Given the description of an element on the screen output the (x, y) to click on. 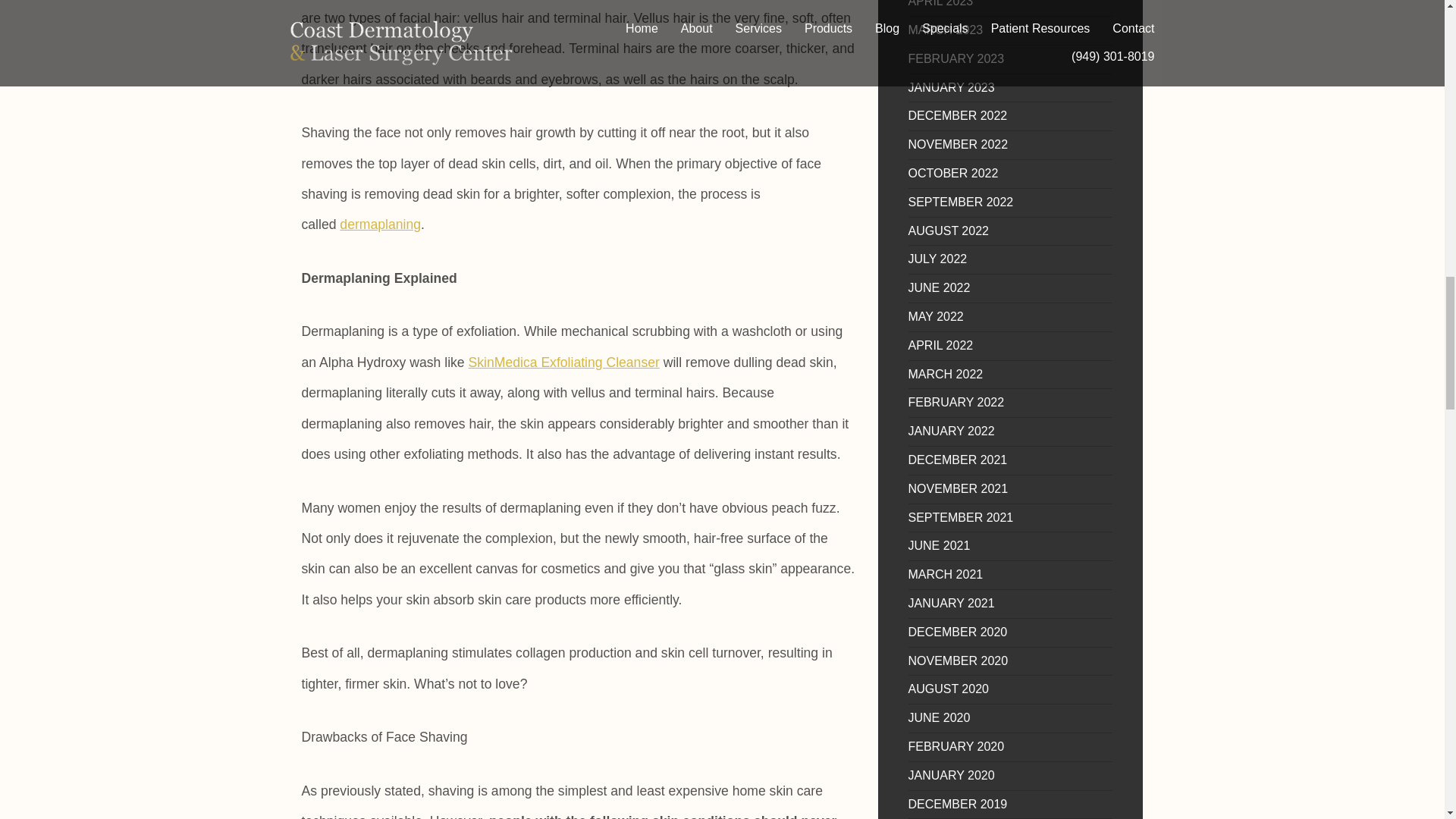
dermaplaning (379, 224)
SkinMedica Exfoliating Cleanser (563, 362)
